Given the description of an element on the screen output the (x, y) to click on. 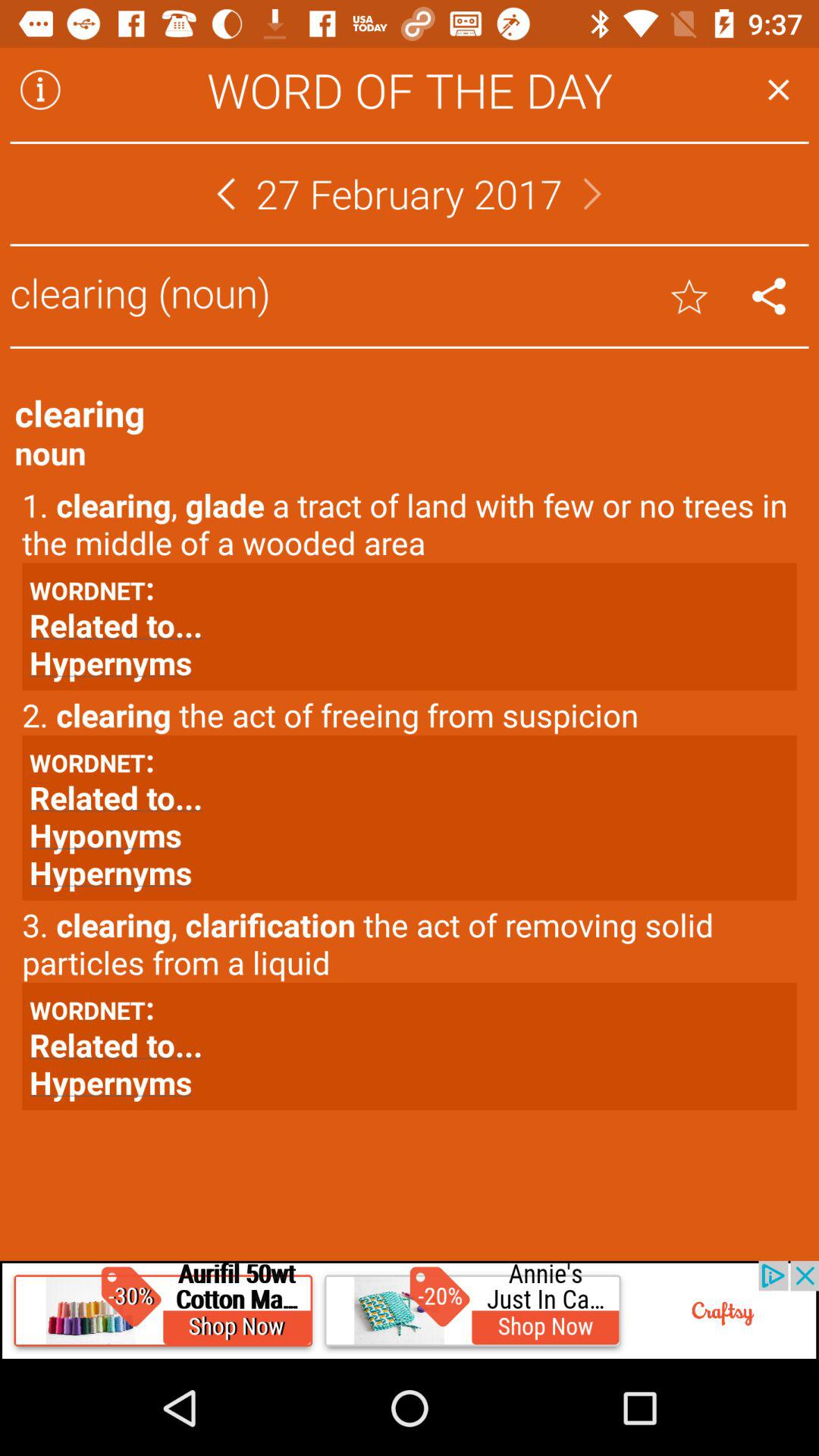
close the page (778, 89)
